Given the description of an element on the screen output the (x, y) to click on. 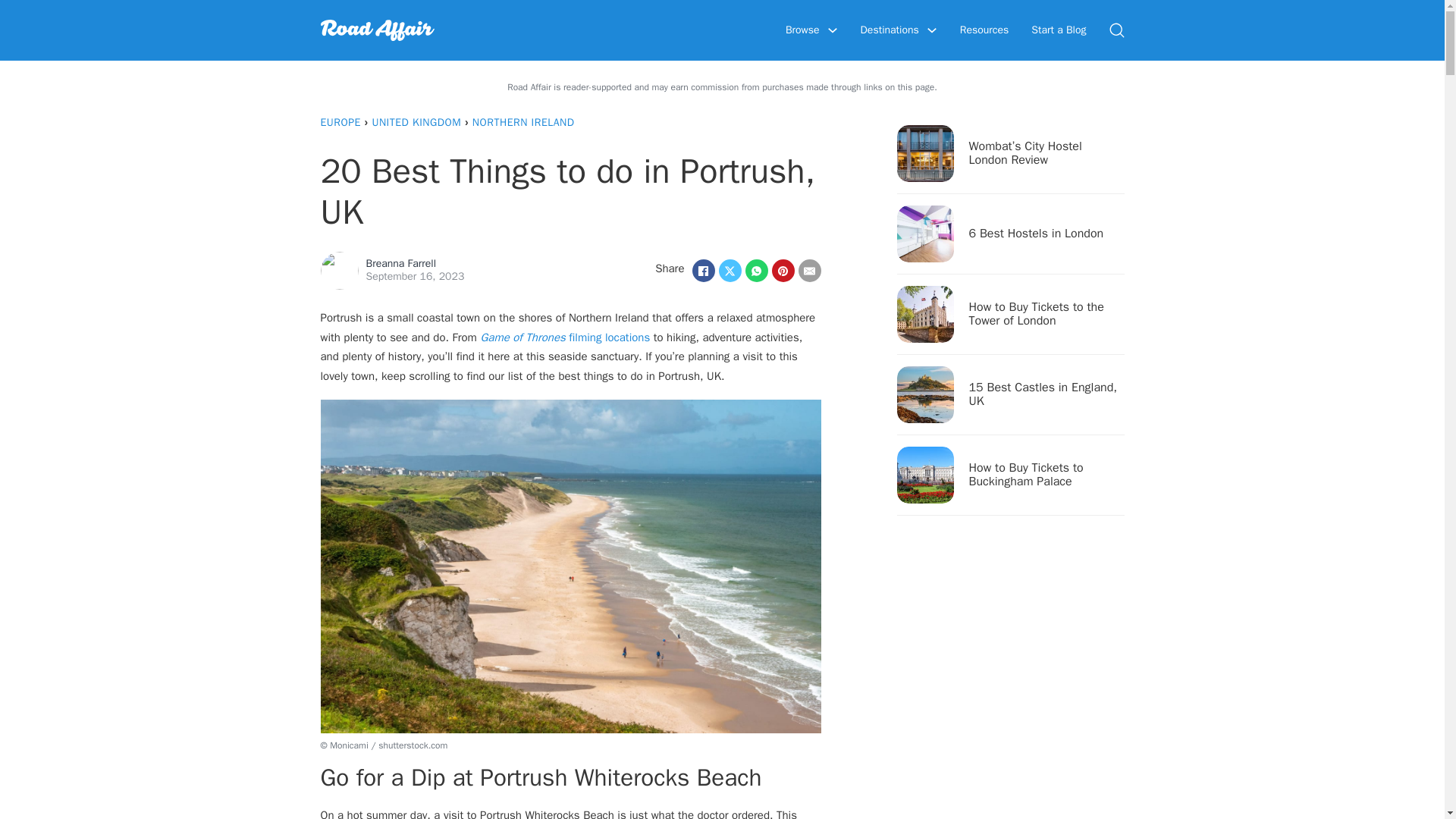
Start a Blog (1058, 30)
Browse (802, 30)
Resources (984, 30)
Destinations (889, 30)
